Given the description of an element on the screen output the (x, y) to click on. 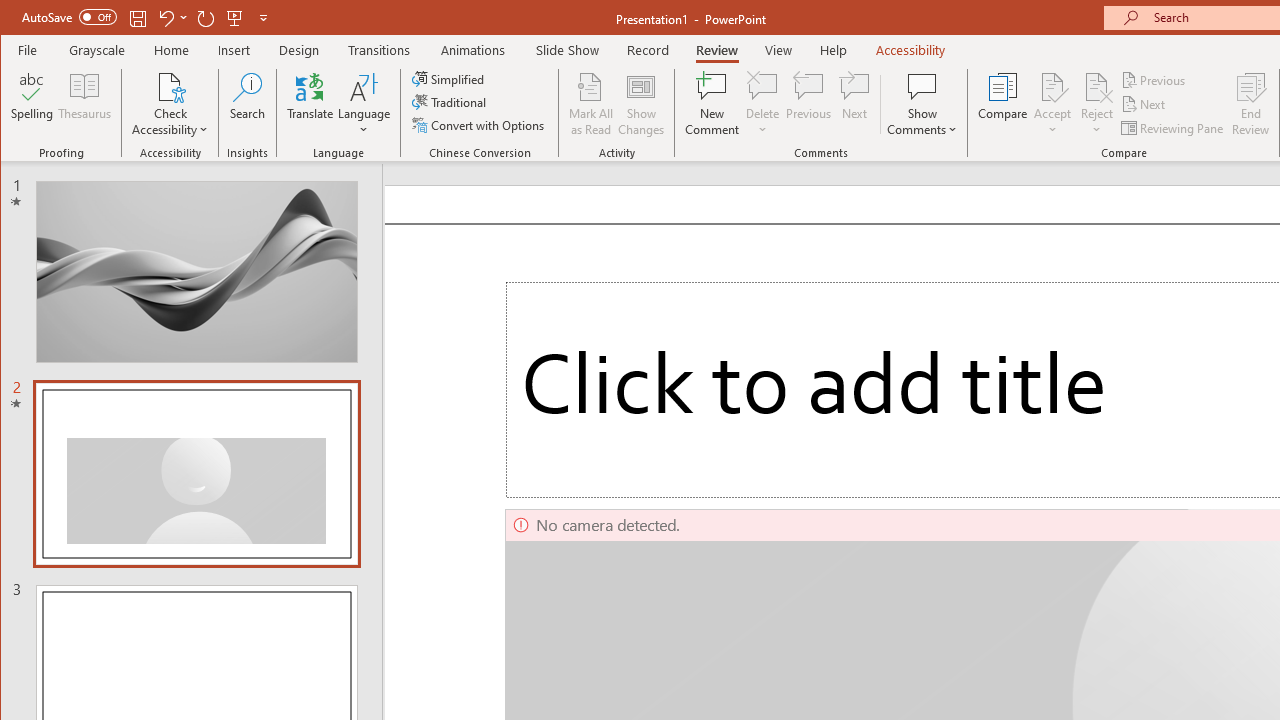
End Review (1251, 104)
Traditional (450, 101)
Simplified (450, 78)
Language (363, 104)
Translate (310, 104)
Reviewing Pane (1173, 127)
Accept (1052, 104)
Reject Change (1096, 86)
